Given the description of an element on the screen output the (x, y) to click on. 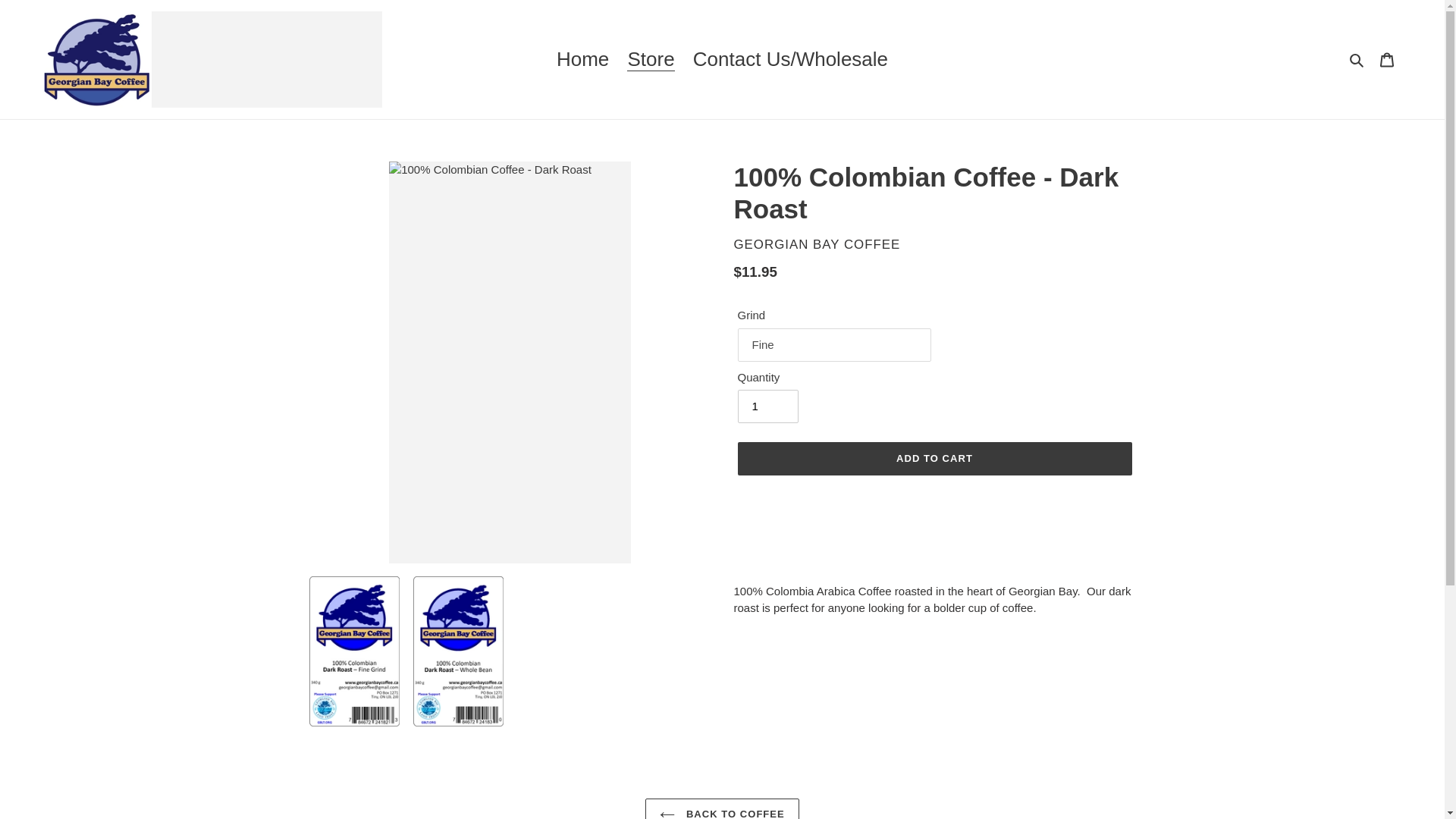
Store (650, 59)
Search (1357, 58)
ADD TO CART (933, 458)
BACK TO COFFEE (722, 808)
Home (581, 59)
1 (766, 406)
Cart (1387, 59)
